Given the description of an element on the screen output the (x, y) to click on. 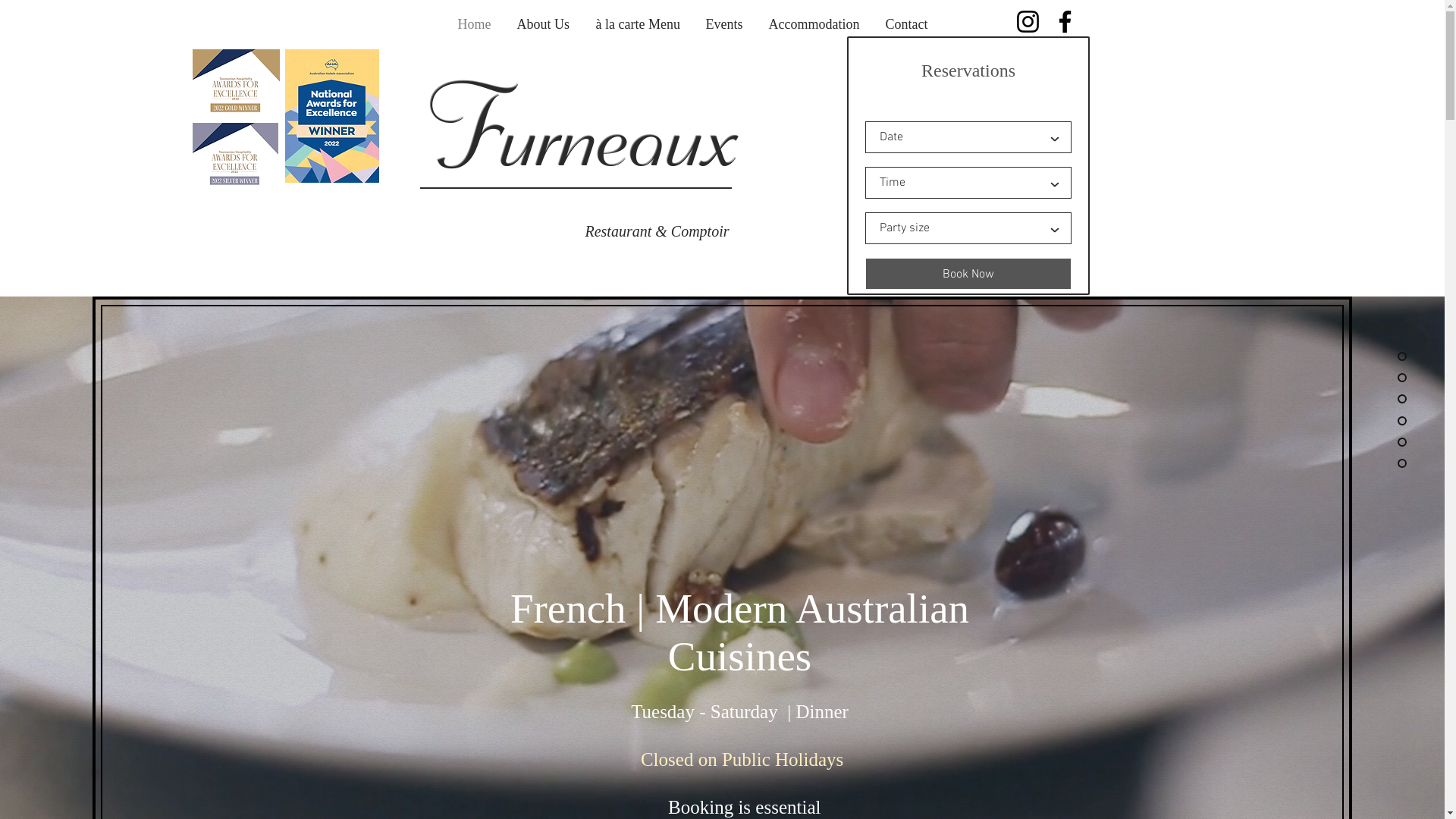
Accommodation Element type: text (813, 24)
Restaurant & Comptoir Element type: text (656, 230)
Home Element type: text (473, 24)
Contact Element type: text (906, 24)
Events Element type: text (724, 24)
Furneaux Element type: text (586, 134)
Wix Reservations Element type: hover (967, 165)
About Us Element type: text (542, 24)
